Given the description of an element on the screen output the (x, y) to click on. 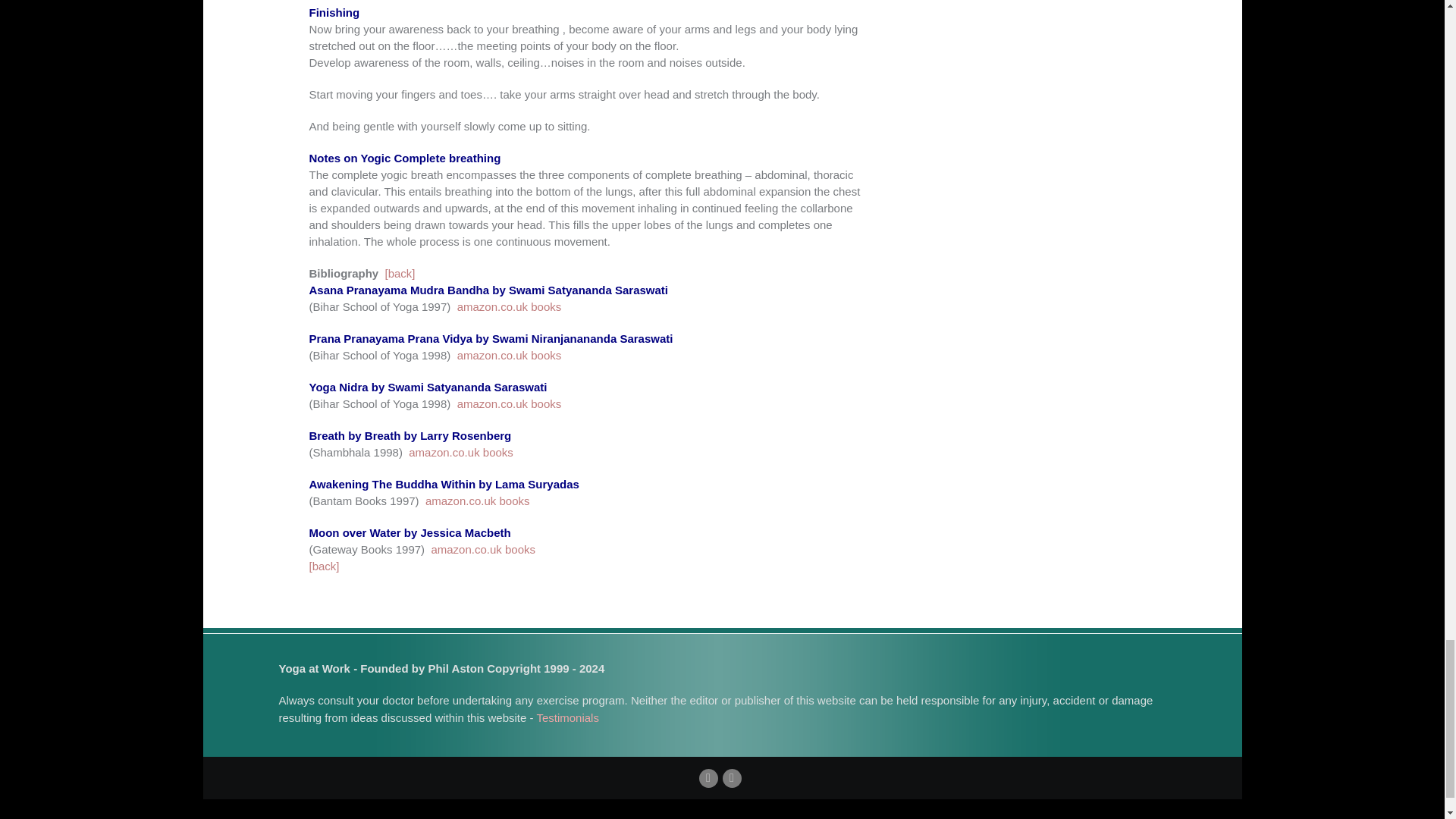
amazon.co.uk books (482, 549)
amazon.co.uk books (477, 500)
amazon.co.uk books (509, 354)
amazon.co.uk books (509, 403)
amazon.co.uk books (461, 451)
Facebook (731, 778)
amazon.co.uk books (509, 306)
Testimonials (566, 717)
Twitter (707, 778)
